Given the description of an element on the screen output the (x, y) to click on. 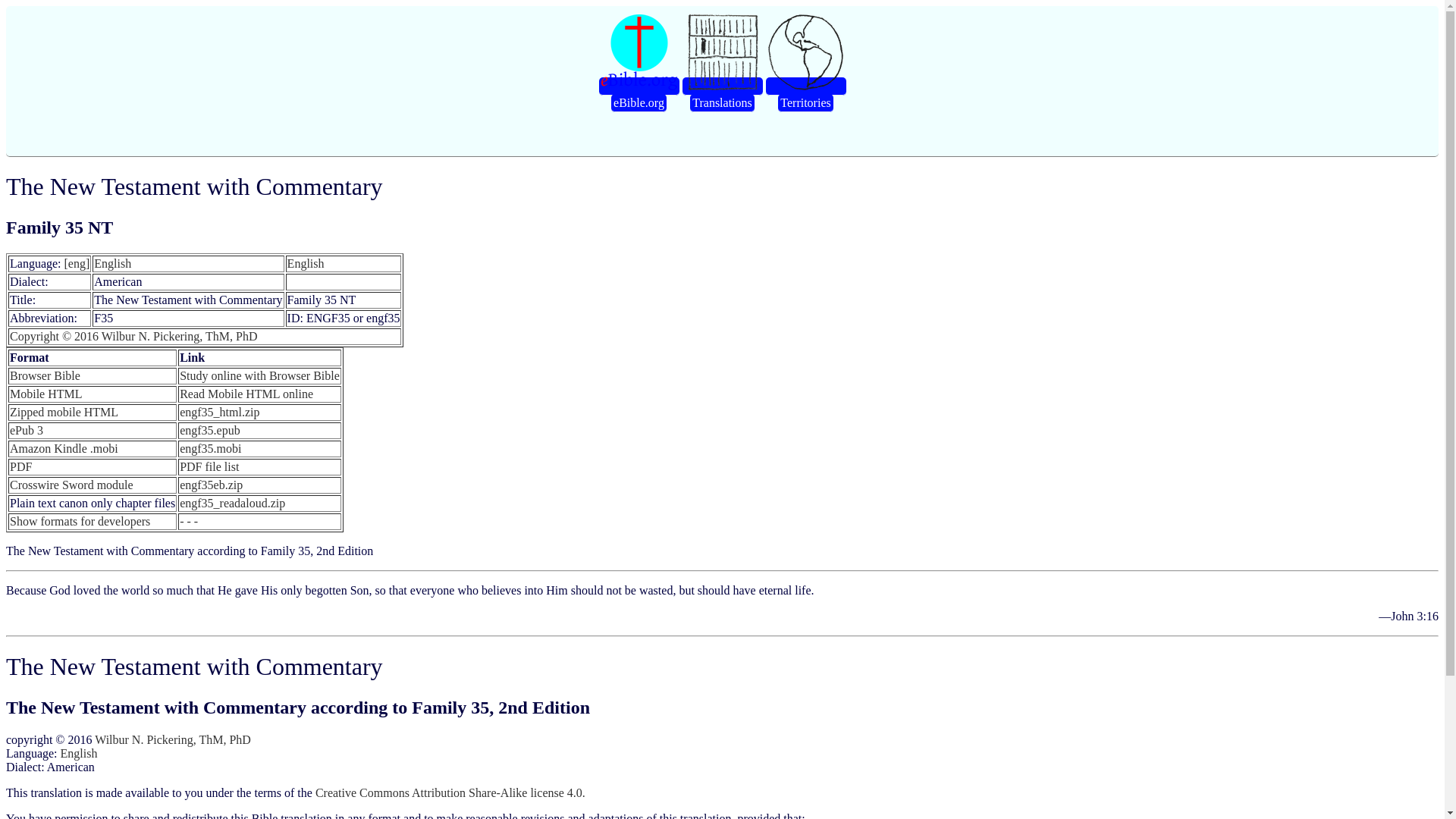
Amazon Kindle .mobi (63, 448)
PDF file list (208, 466)
Read Mobile HTML online (246, 393)
Show formats for developers (79, 521)
ePub 3 (26, 430)
Creative Commons Attribution Share-Alike license 4.0. (450, 792)
engf35.mobi (210, 448)
Study online with Browser Bible (259, 375)
English (112, 263)
engf35eb.zip (211, 484)
